Given the description of an element on the screen output the (x, y) to click on. 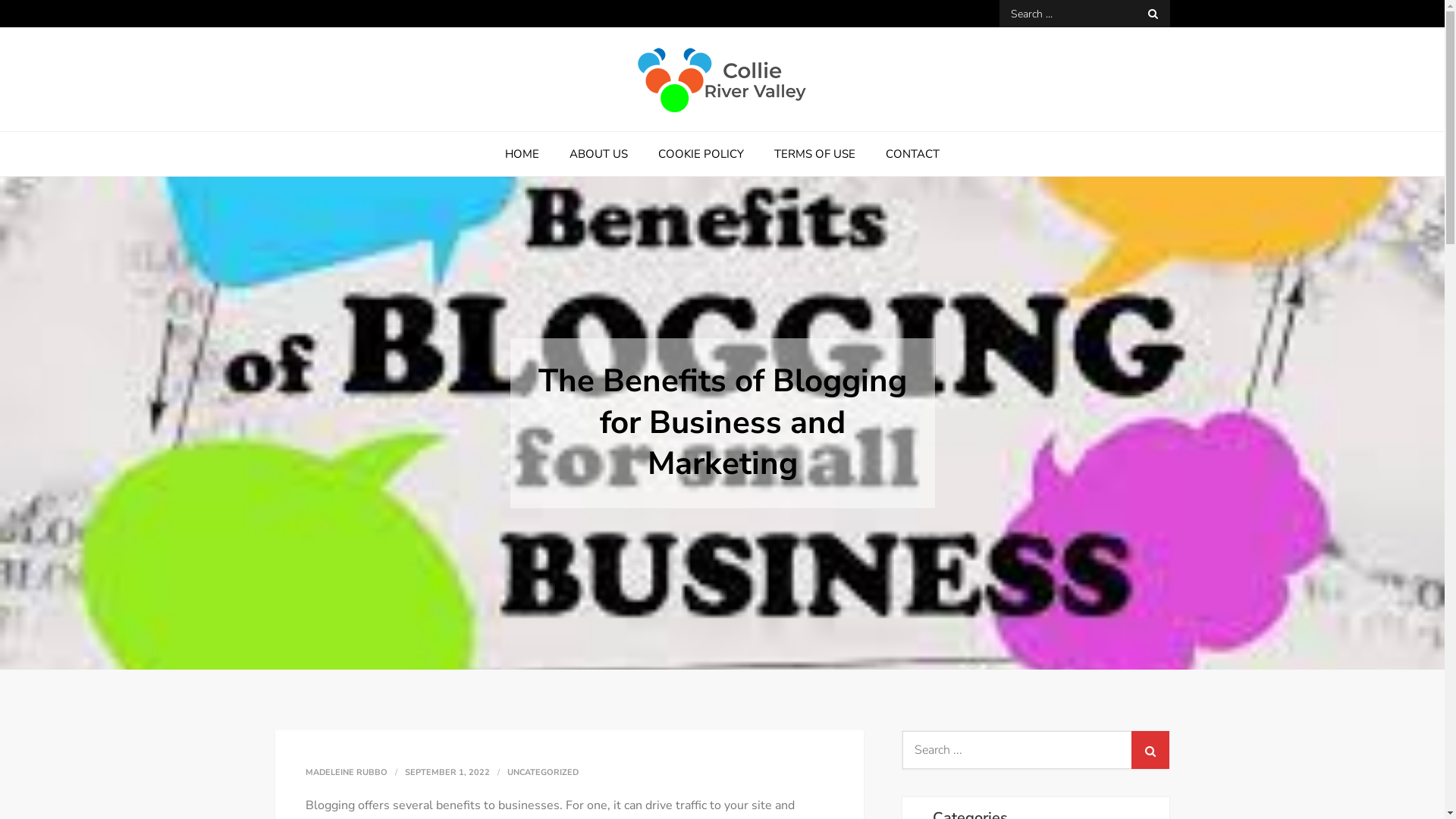
UNCATEGORIZED Element type: text (541, 772)
MADELEINE RUBBO Element type: text (345, 772)
Search Element type: text (1152, 13)
ABOUT US Element type: text (598, 153)
Collieriver Valley Element type: text (399, 135)
Search for: Element type: hover (1035, 749)
CONTACT Element type: text (912, 153)
Search for: Element type: hover (1084, 13)
SEPTEMBER 1, 2022 Element type: text (446, 772)
COOKIE POLICY Element type: text (700, 153)
HOME Element type: text (521, 153)
TERMS OF USE Element type: text (814, 153)
Search Element type: text (1150, 749)
